Given the description of an element on the screen output the (x, y) to click on. 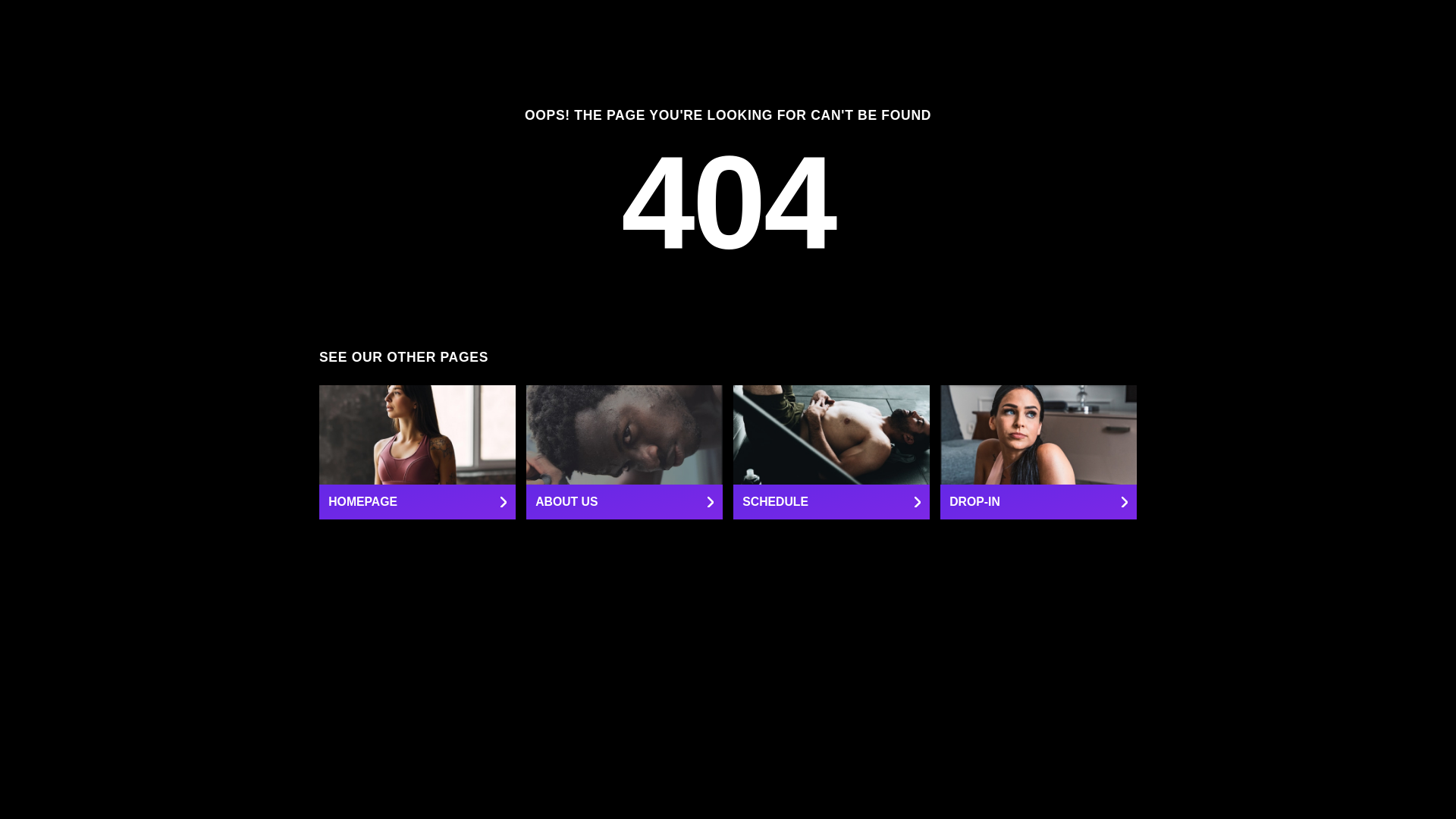
SCHEDULE (831, 452)
ABOUT US (623, 452)
DROP-IN (1038, 452)
HOMEPAGE (416, 452)
